Given the description of an element on the screen output the (x, y) to click on. 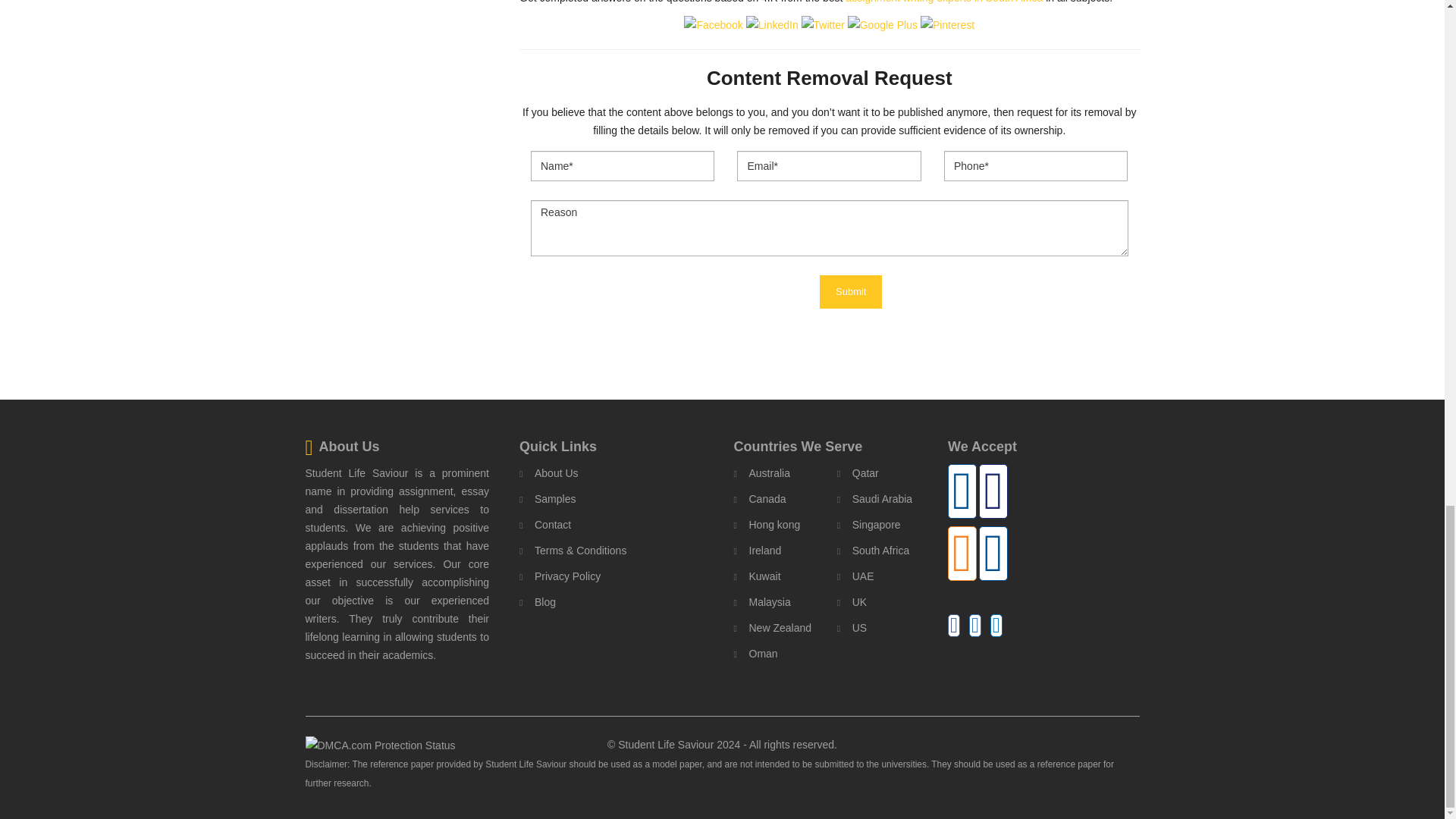
Submit (850, 292)
About Us (548, 473)
DMCA.com Protection Status (379, 744)
assignment writing experts in South Africa (943, 2)
Contact (544, 524)
Blog (537, 601)
Privacy Policy (559, 576)
Submit (850, 292)
Samples (547, 498)
